Given the description of an element on the screen output the (x, y) to click on. 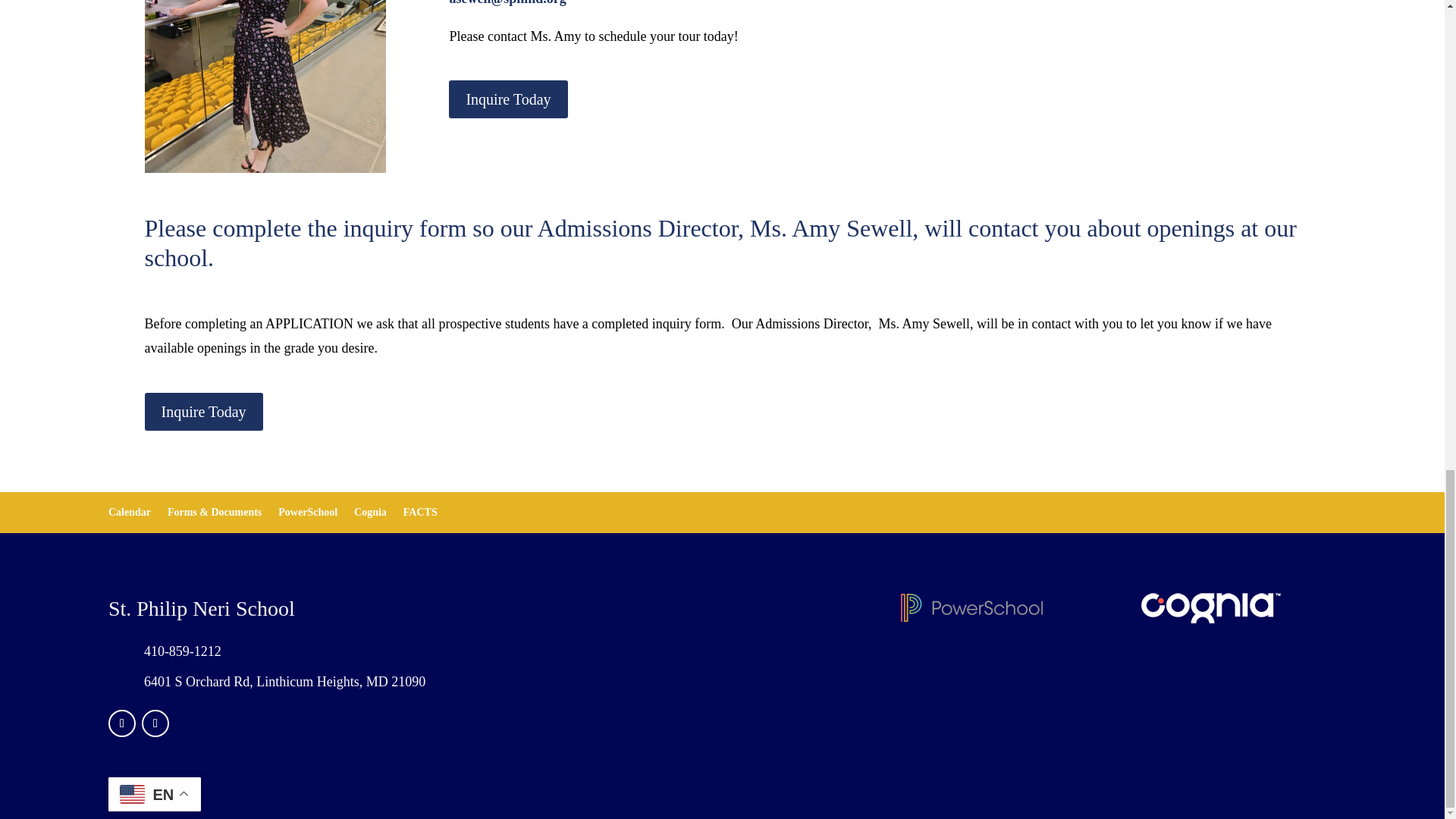
cognia-logo (1210, 607)
power-school-logo (971, 607)
Follow on Instagram (154, 723)
Follow on Facebook (121, 723)
Admissions Director (264, 86)
